Given the description of an element on the screen output the (x, y) to click on. 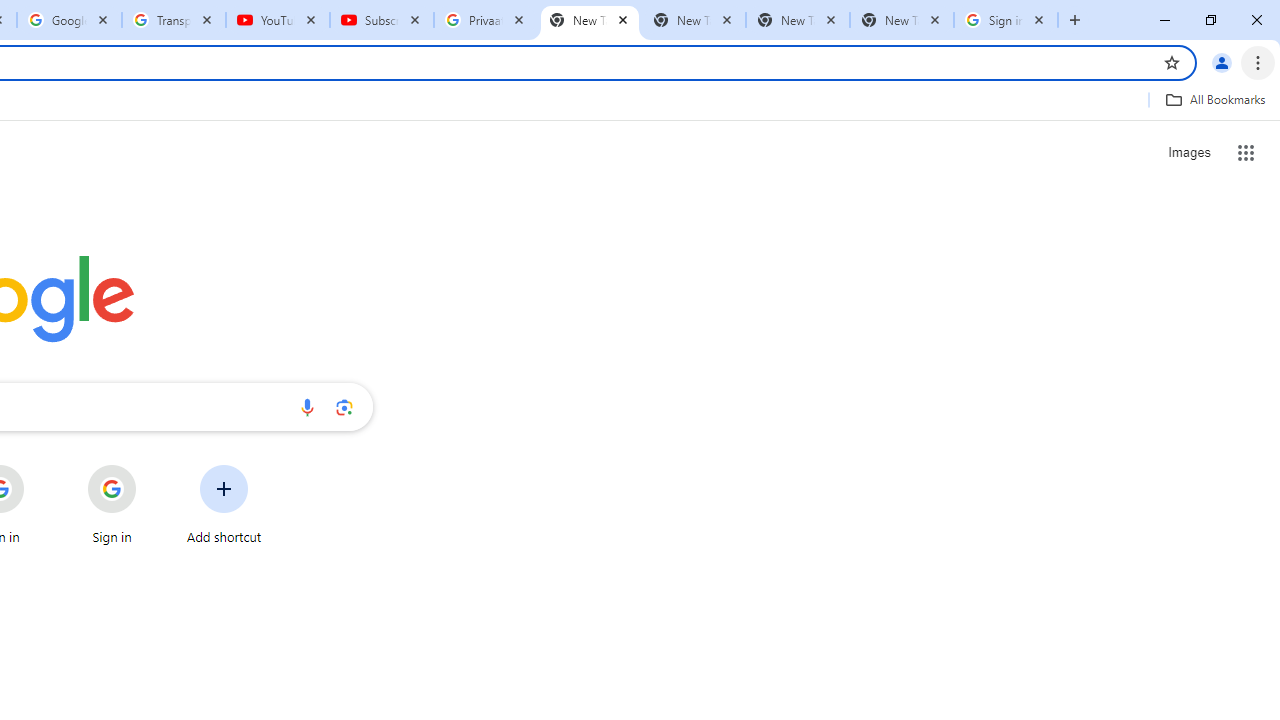
Add shortcut (223, 504)
Sign in - Google Accounts (1005, 20)
New Tab (901, 20)
More actions for Sign in shortcut (152, 466)
Google Account (68, 20)
YouTube (278, 20)
